Given the description of an element on the screen output the (x, y) to click on. 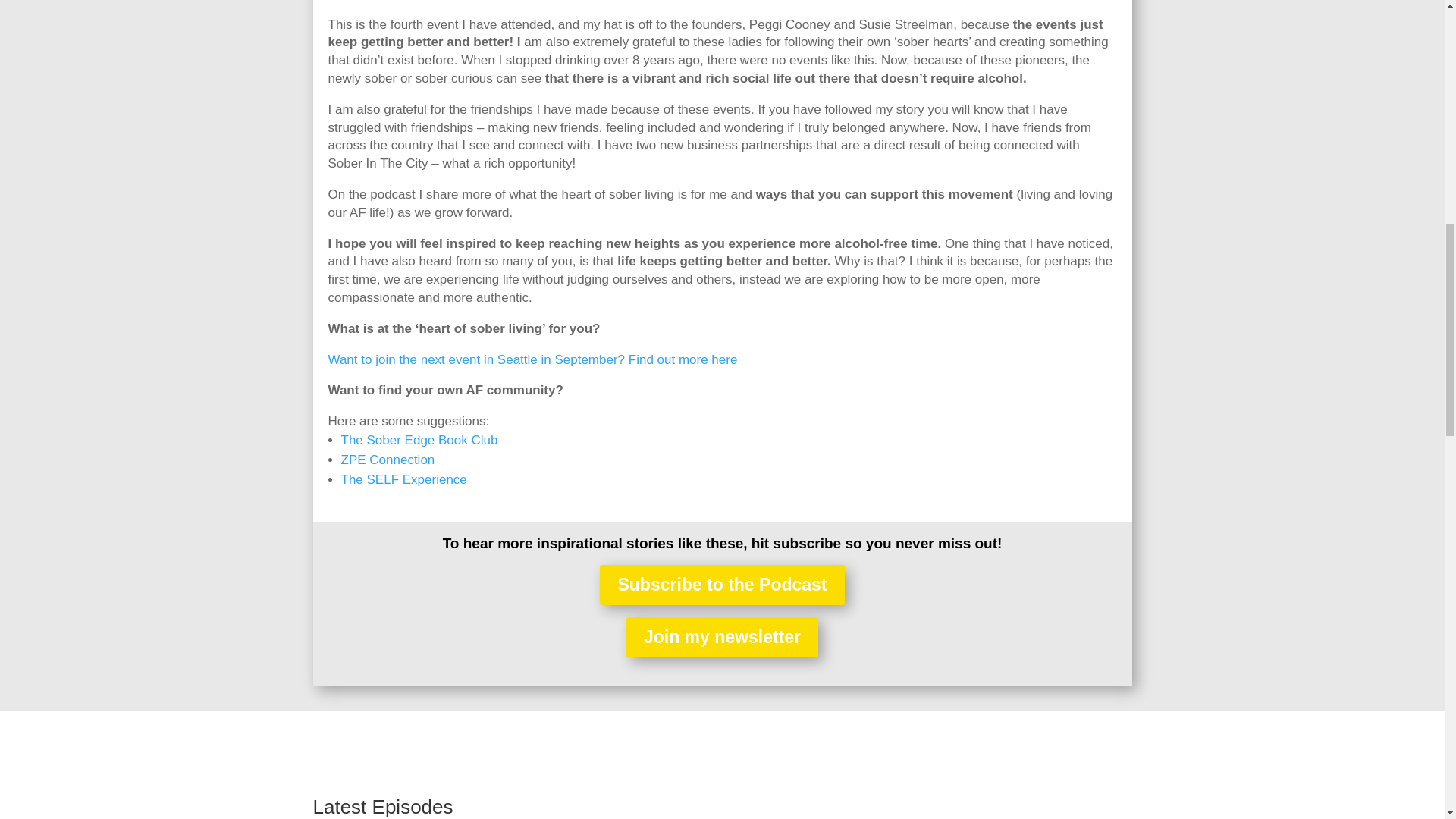
The Sober Edge Book Club (418, 440)
Join my newsletter (722, 637)
The SELF Experience (403, 479)
ZPE Connection (387, 459)
Subscribe to the Podcast (721, 585)
